Given the description of an element on the screen output the (x, y) to click on. 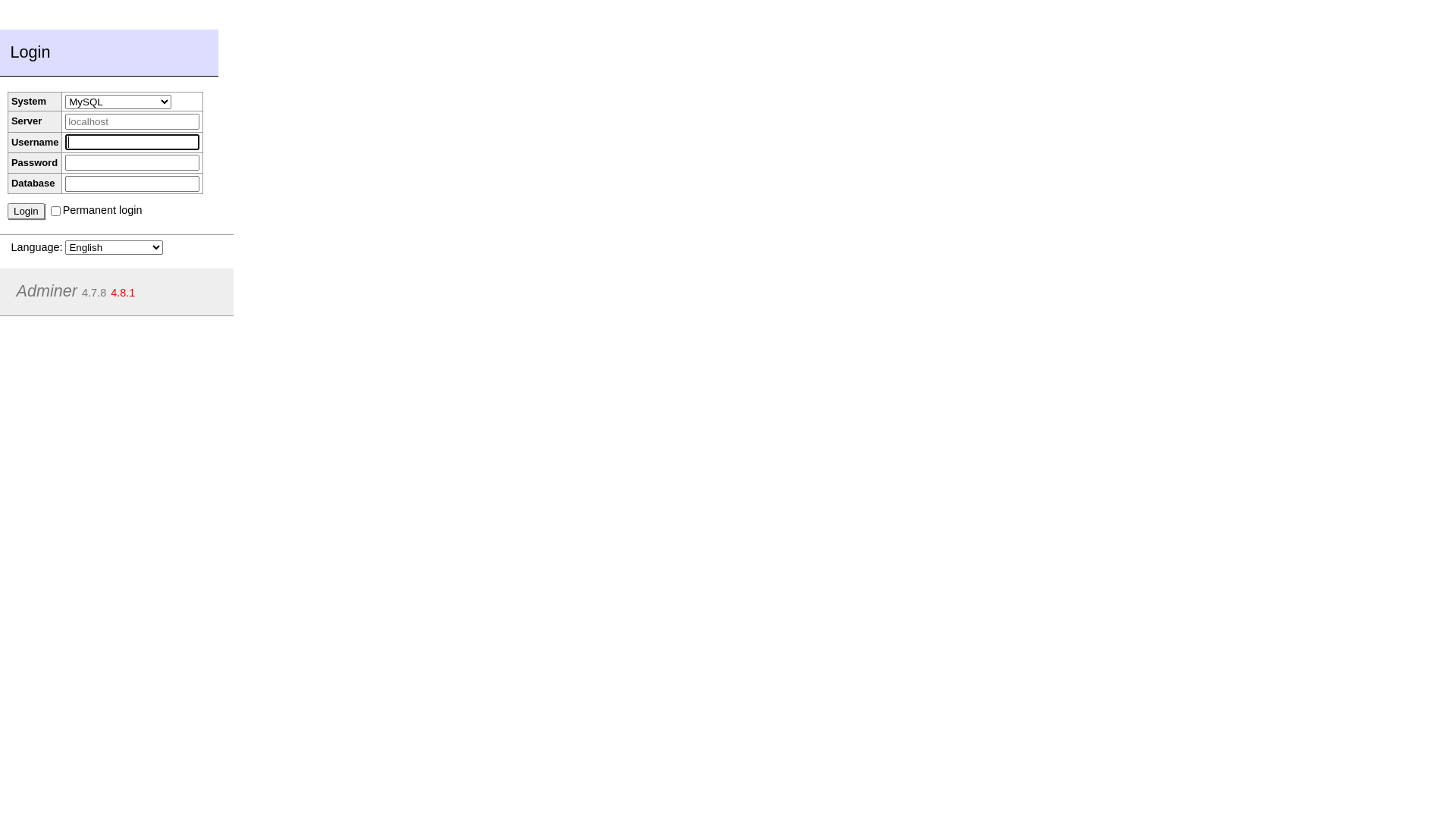
Adminer Element type: text (46, 290)
Login Element type: text (25, 211)
Use Element type: text (15, 7)
hostname[:port] Element type: hover (132, 121)
4.8.1 Element type: text (122, 292)
